Given the description of an element on the screen output the (x, y) to click on. 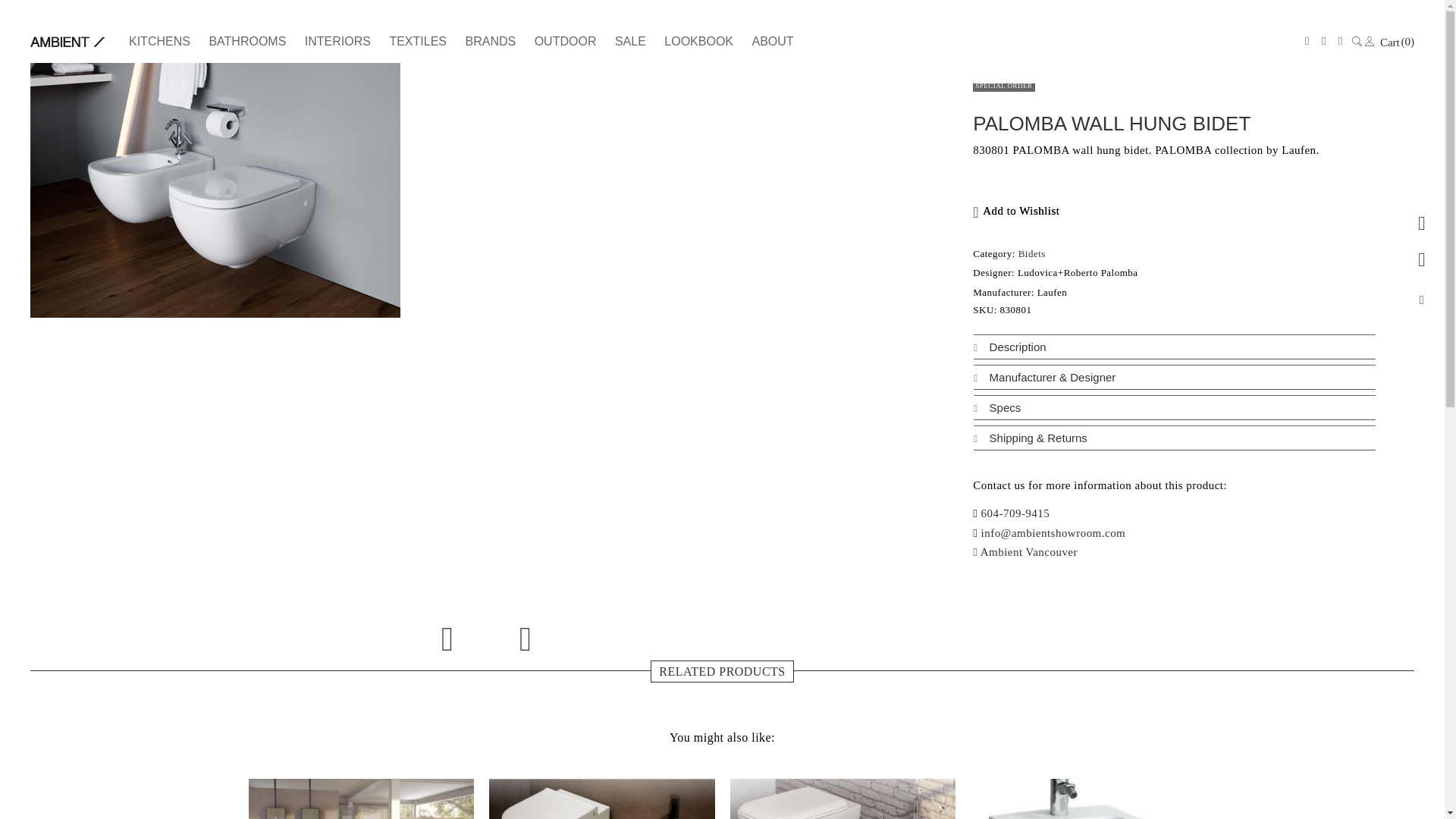
LOOKBOOK (698, 41)
BRANDS (489, 41)
OUTDOOR (565, 41)
Ambient Showroom (68, 41)
Screen-Shot-2020-07-30-at-1.57.19-PM (601, 798)
BATHROOMS (247, 41)
TEXTILES (417, 41)
SALE (630, 41)
KITCHENS (163, 41)
ABOUT (768, 41)
01-PALOMBA-WALL-HUNG-toilet (215, 190)
50313-8637392 (361, 798)
INTERIORS (337, 41)
Screen Shot 2020-07-22 at 3.26.23 PM (842, 798)
